Given the description of an element on the screen output the (x, y) to click on. 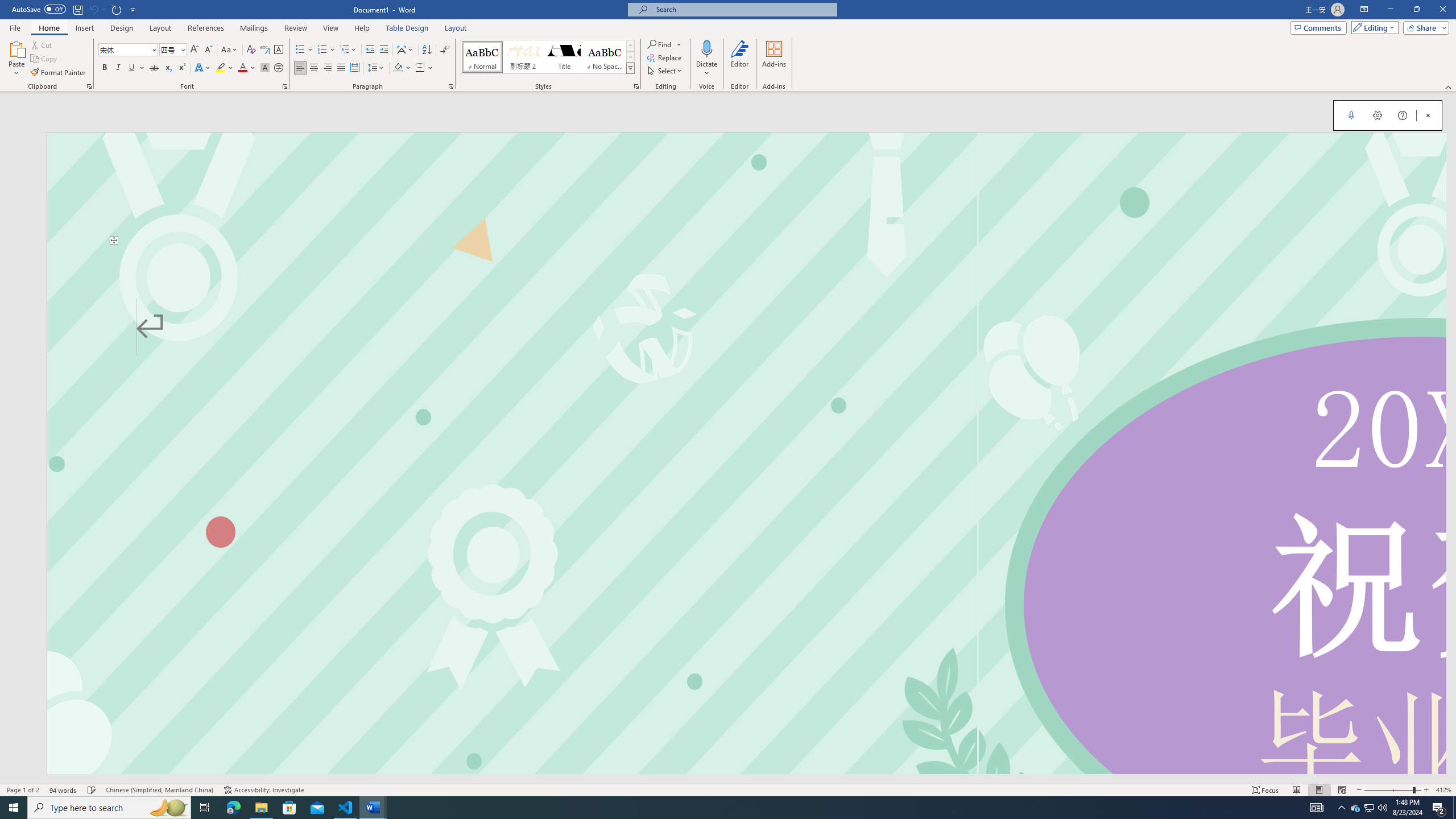
Decrease Indent (370, 49)
